Given the description of an element on the screen output the (x, y) to click on. 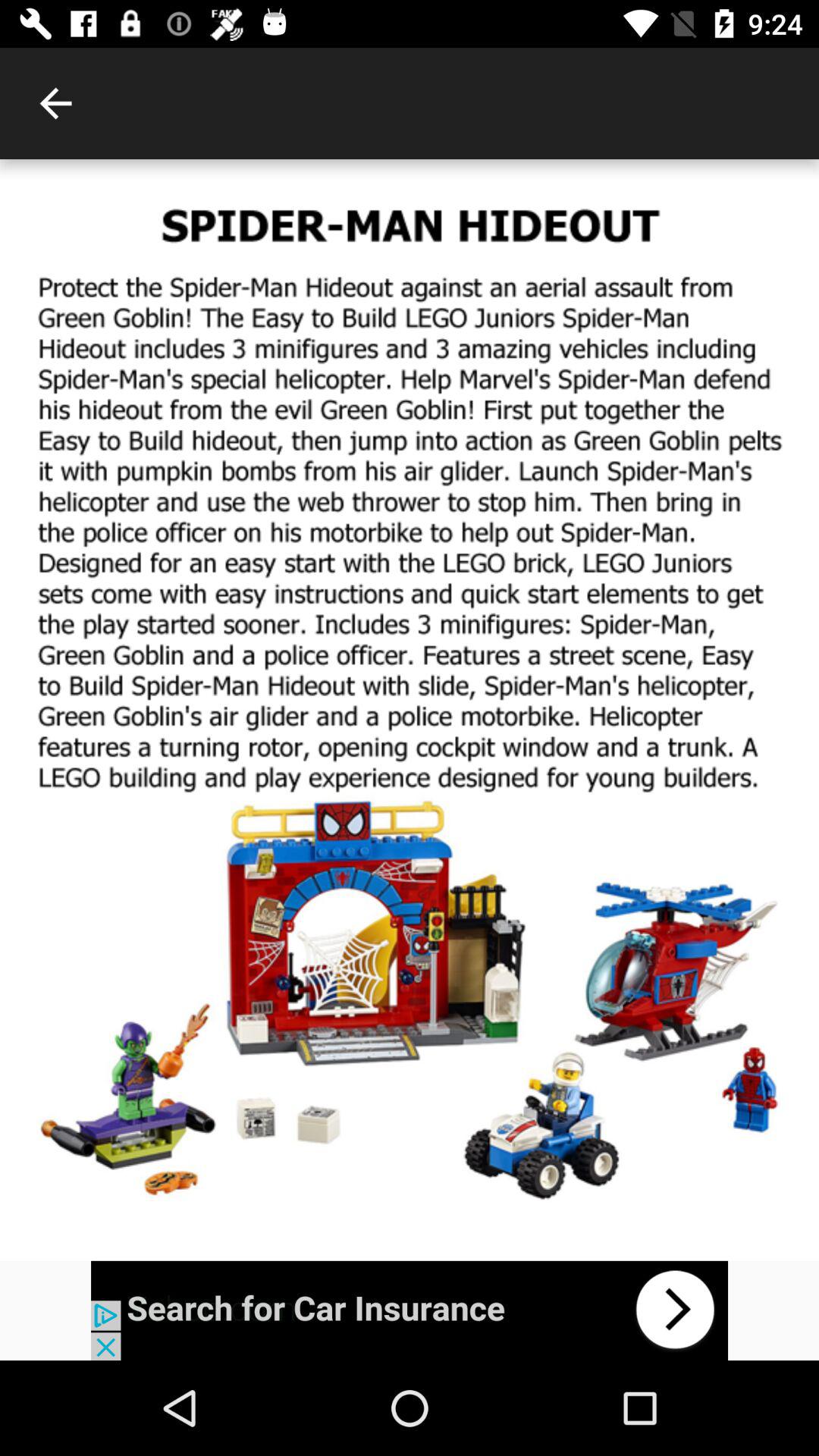
search option (409, 1310)
